Given the description of an element on the screen output the (x, y) to click on. 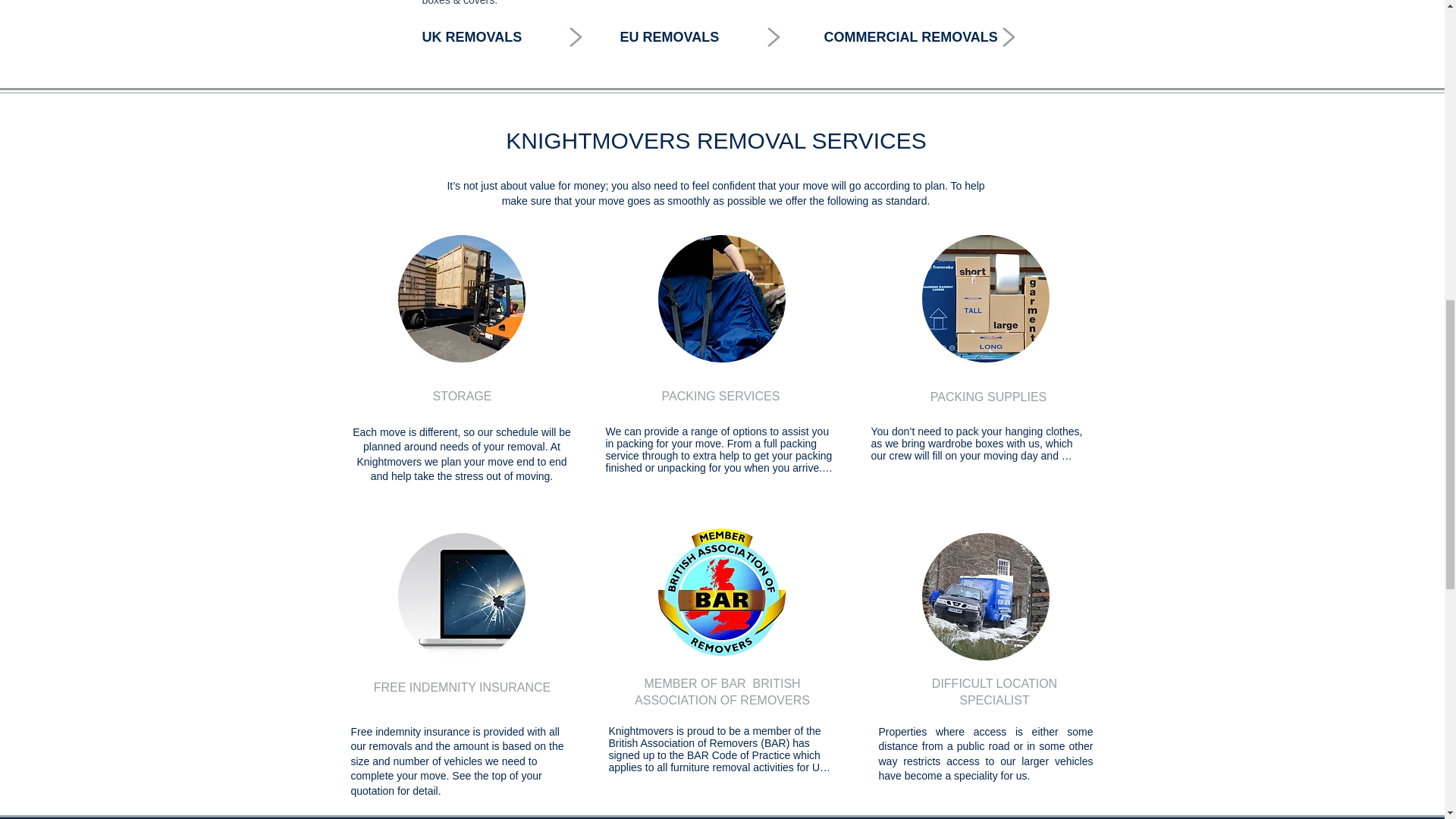
UK REMOVALS (471, 37)
COMMERCIAL REMOVALS (910, 37)
STORAGE (462, 395)
EU REMOVALS (669, 37)
